Given the description of an element on the screen output the (x, y) to click on. 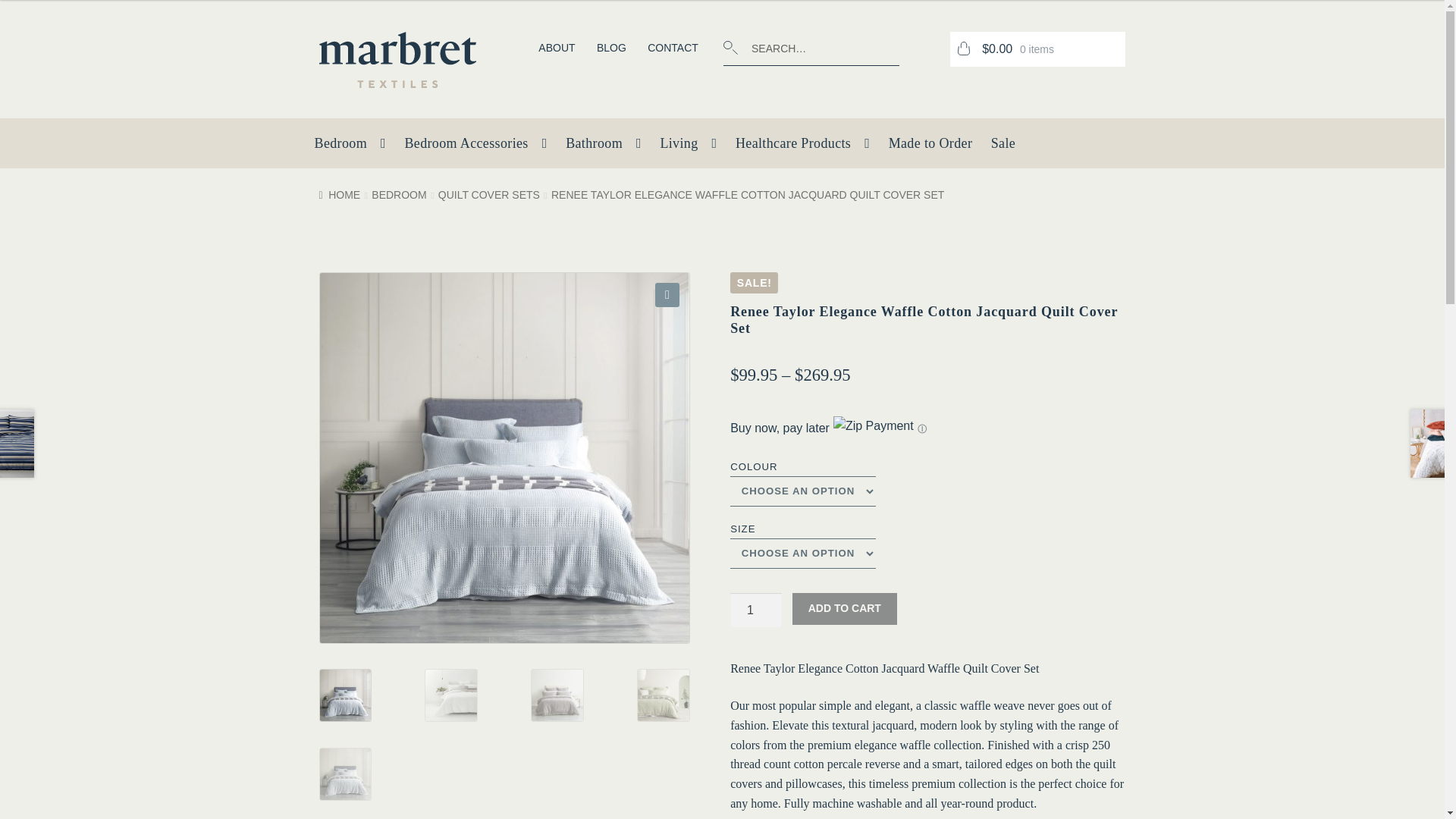
Healthcare Products (802, 147)
Zip payment Information (920, 428)
View your shopping cart (1037, 48)
Bedroom (350, 147)
ABOUT (557, 47)
Made to Order (929, 147)
CONTACT (673, 47)
Bathroom (603, 147)
Living (687, 147)
Bedroom Accessories (475, 147)
1 (755, 610)
BLOG (611, 47)
